Given the description of an element on the screen output the (x, y) to click on. 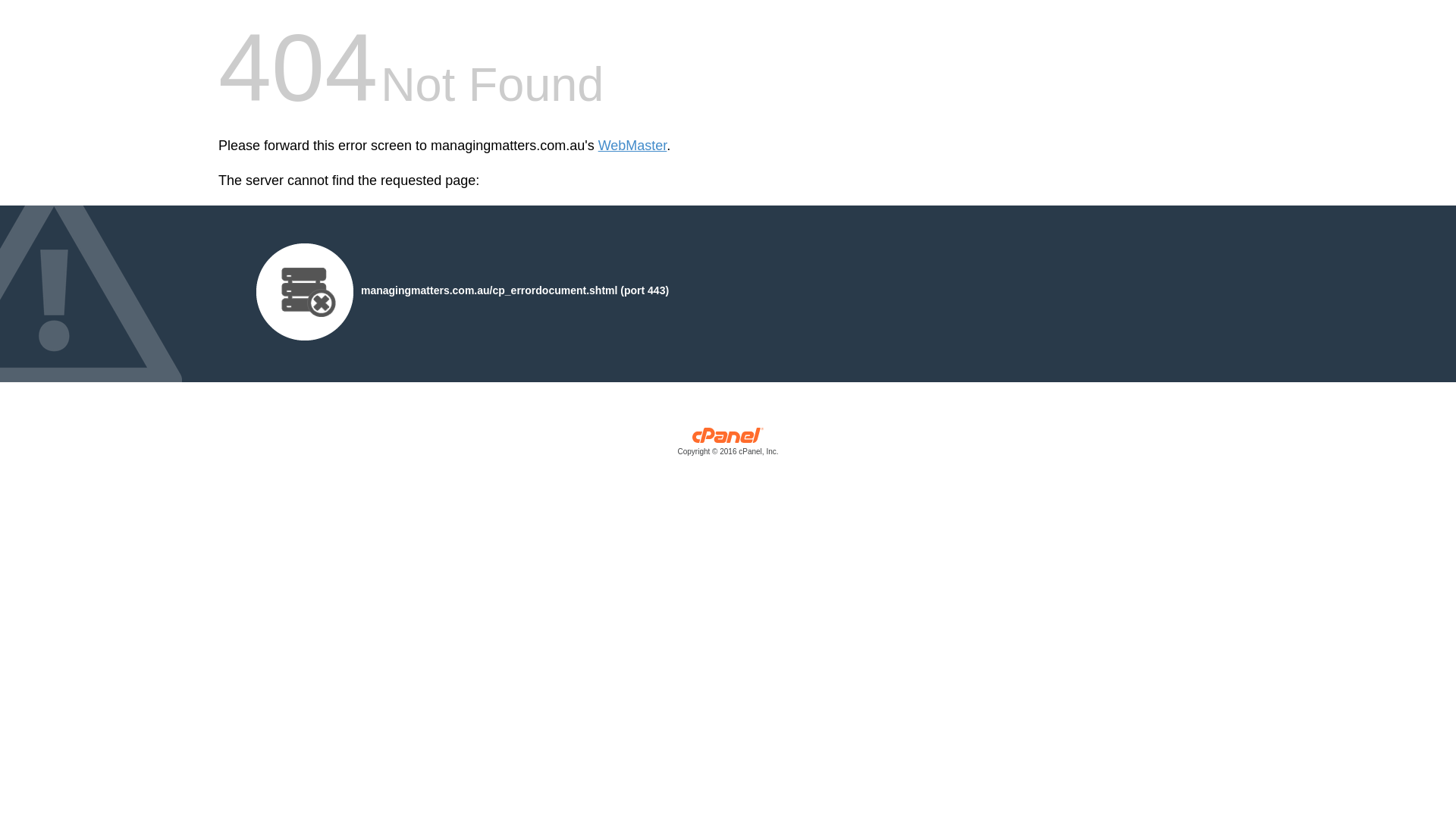
WebMaster Element type: text (632, 145)
